Given the description of an element on the screen output the (x, y) to click on. 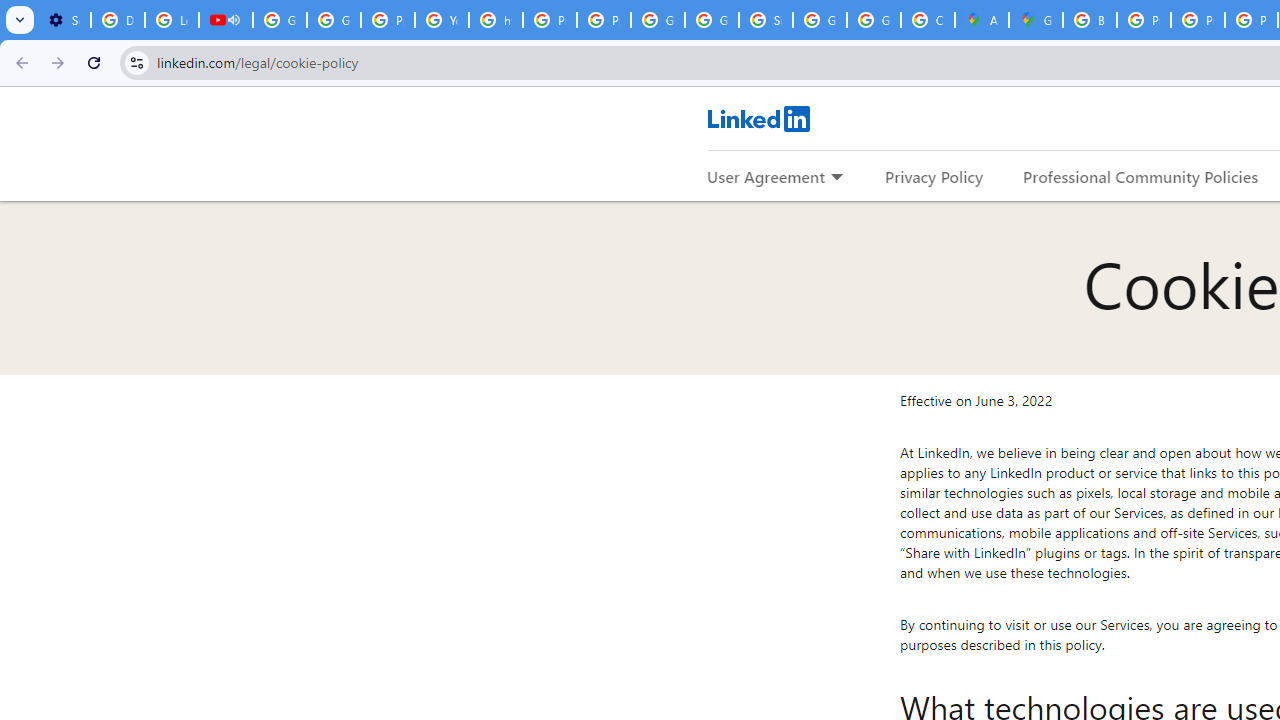
Professional Community Policies (1140, 176)
LinkedIn Logo (758, 118)
Privacy Help Center - Policies Help (1144, 20)
Google Maps (1035, 20)
User Agreement (765, 176)
Create your Google Account (927, 20)
Privacy Help Center - Policies Help (1197, 20)
